Given the description of an element on the screen output the (x, y) to click on. 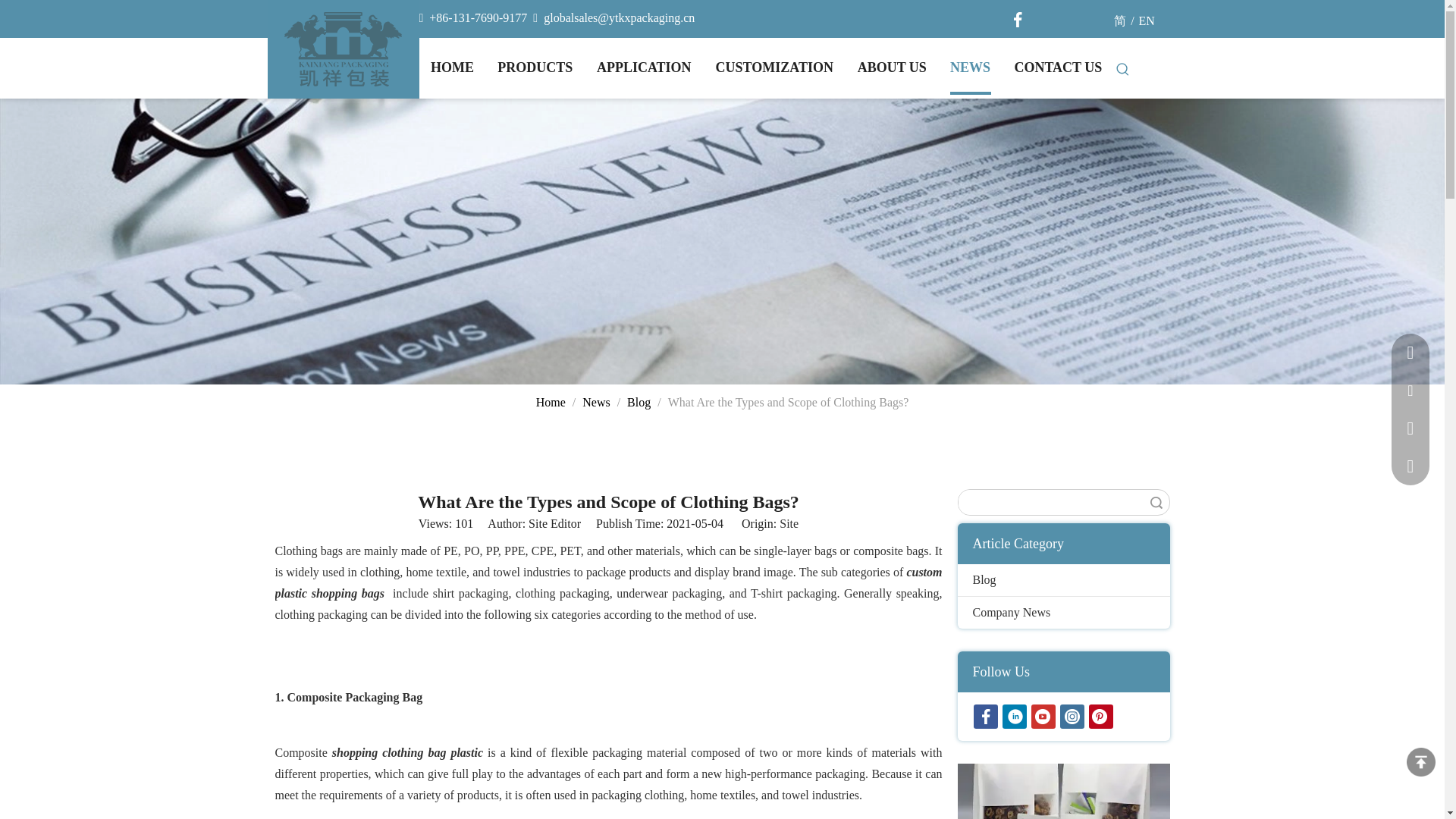
Blog (1062, 580)
Instagram (1071, 716)
Facebook (1017, 19)
Youtube (1042, 716)
PRODUCTS (535, 67)
Linkedin (1014, 716)
ABOUT US (892, 67)
logo (342, 49)
APPLICATION (643, 67)
CONTACT US (1058, 67)
